Given the description of an element on the screen output the (x, y) to click on. 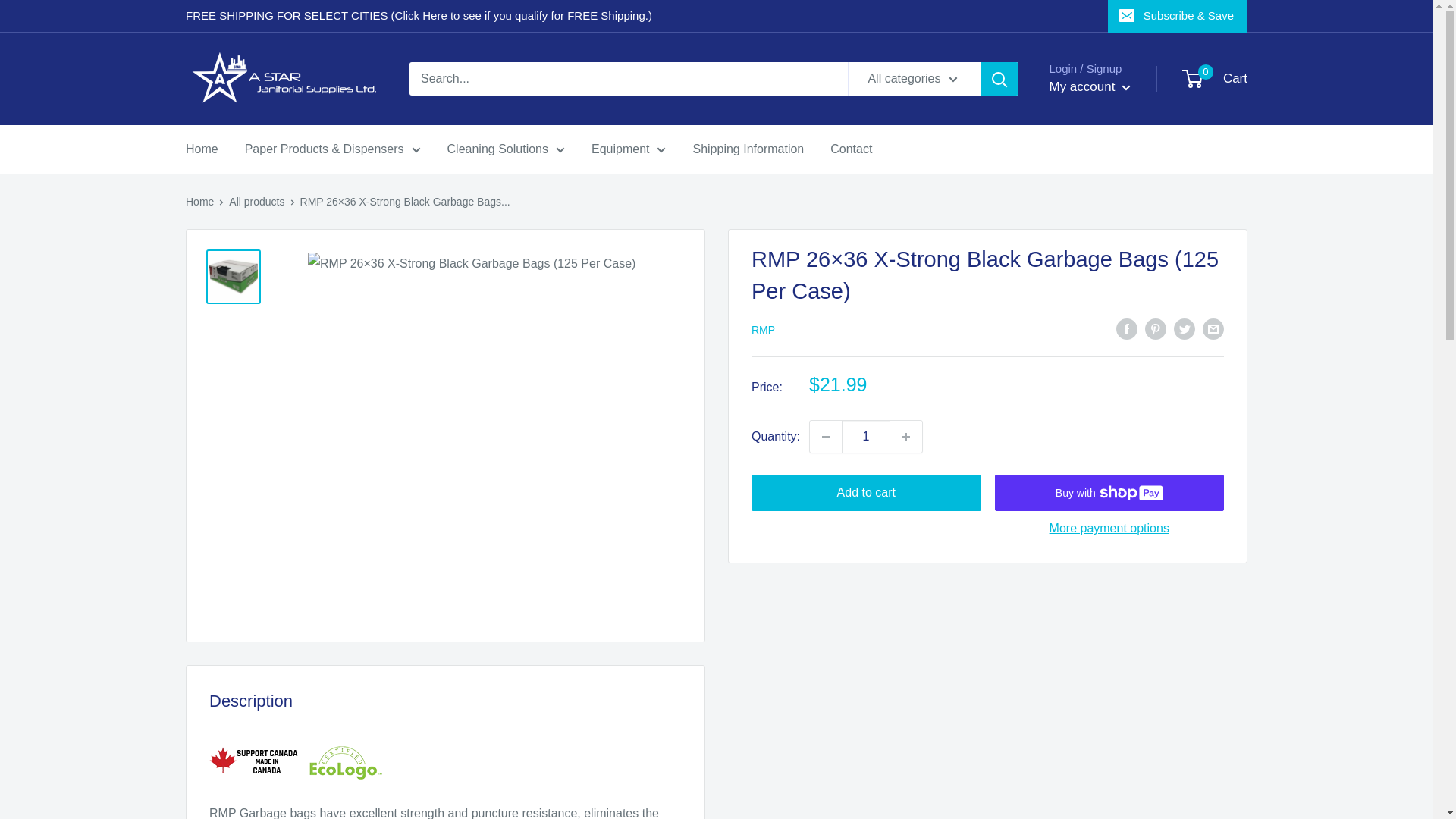
Decrease quantity by 1 (825, 436)
1 (865, 436)
Increase quantity by 1 (905, 436)
